Given the description of an element on the screen output the (x, y) to click on. 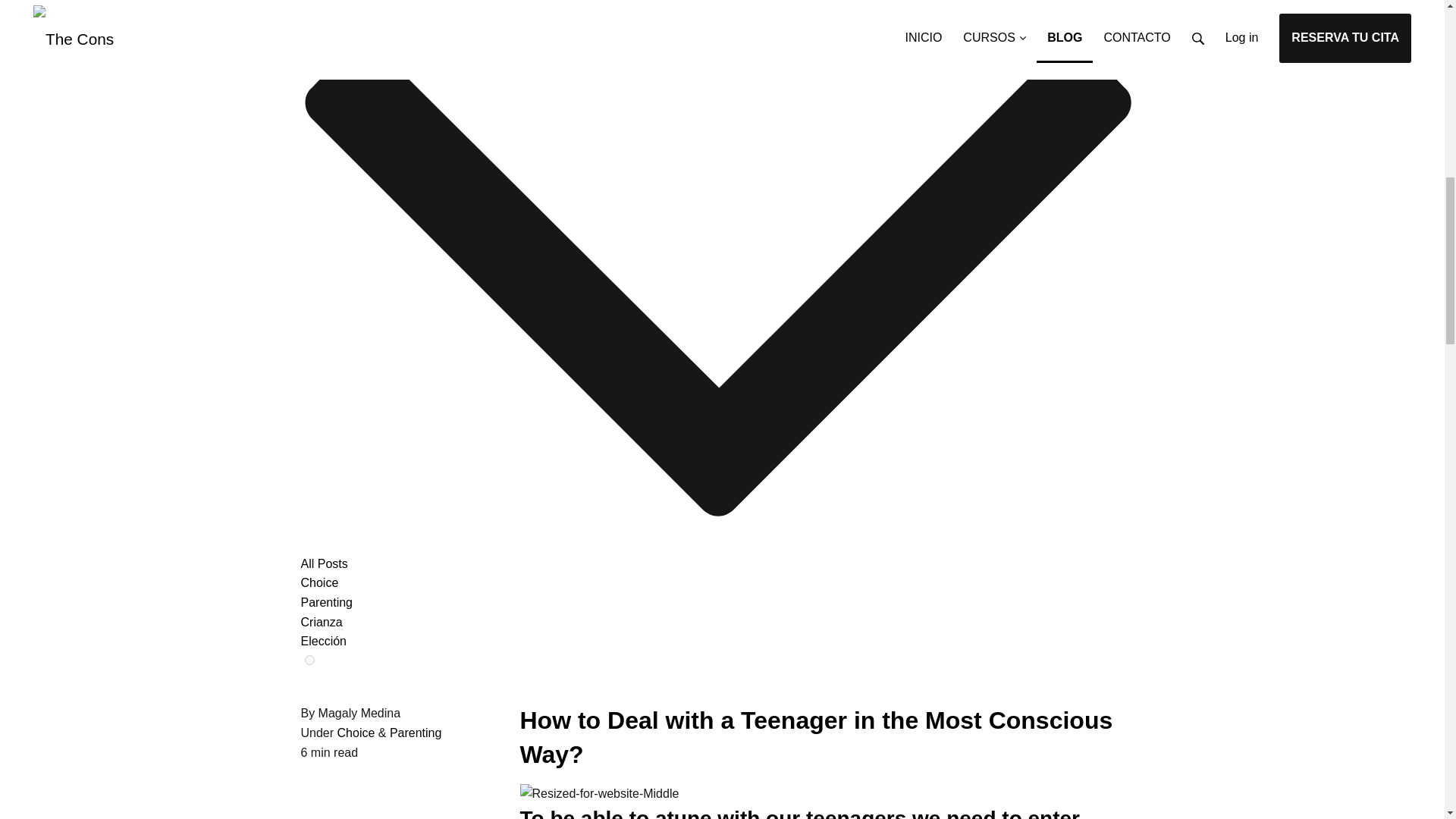
All Posts (323, 563)
Parenting (416, 732)
on (309, 660)
Choice (356, 732)
Parenting (325, 602)
Crianza (320, 621)
Choice (318, 582)
